Given the description of an element on the screen output the (x, y) to click on. 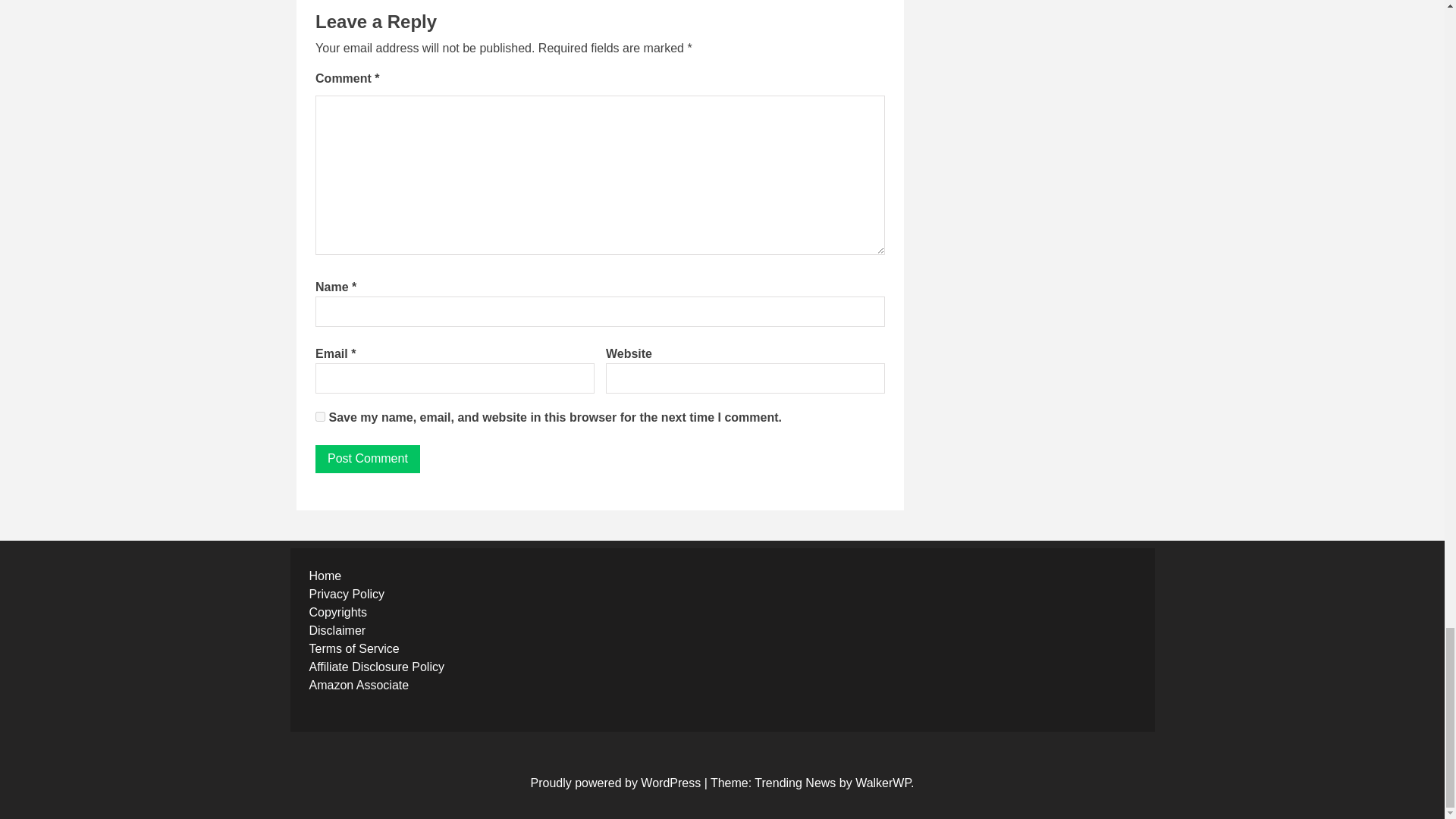
Post Comment (367, 459)
yes (319, 416)
Copyrights (337, 612)
Home (325, 575)
Post Comment (367, 459)
Privacy Policy (346, 594)
